Given the description of an element on the screen output the (x, y) to click on. 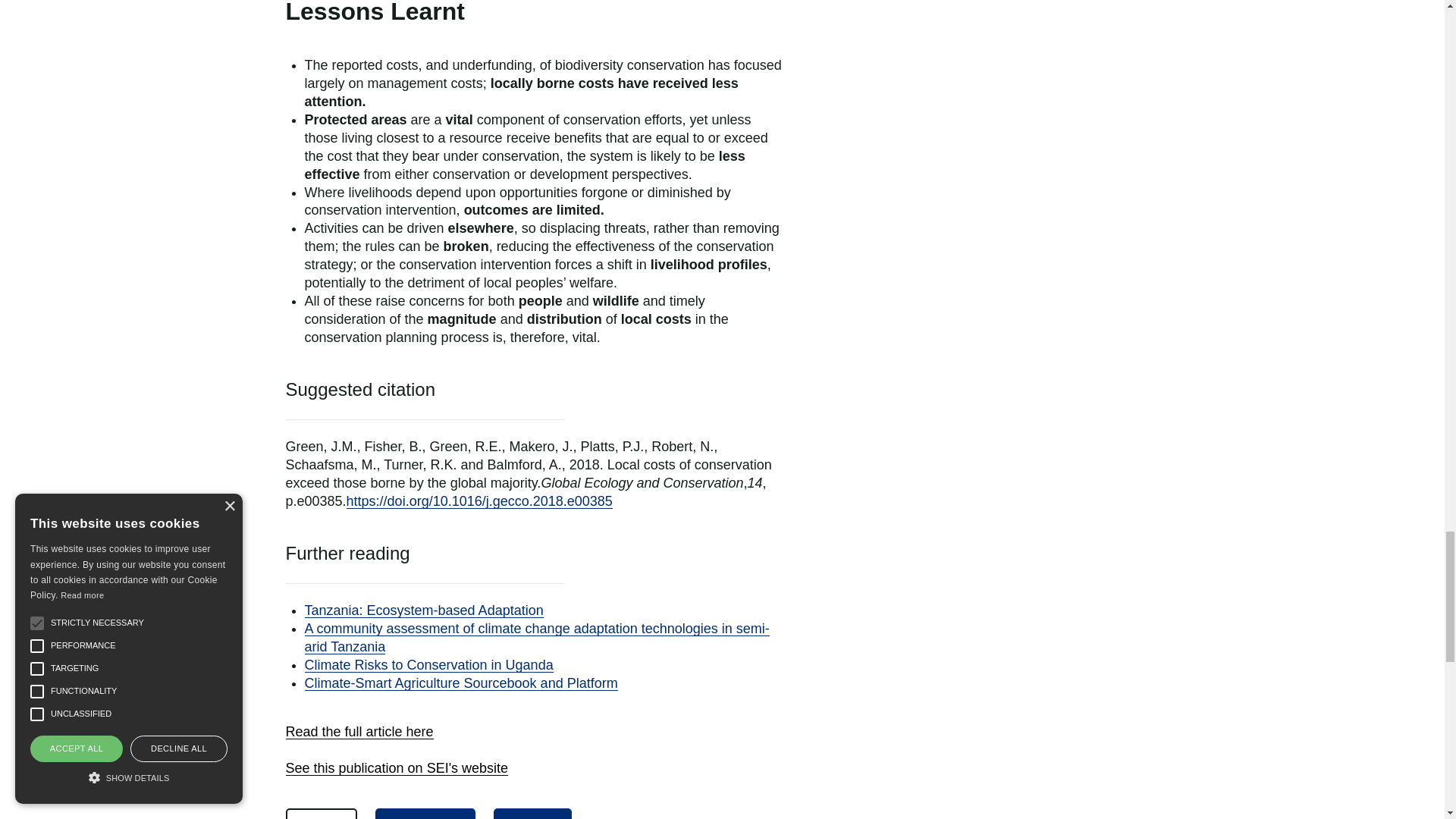
Persistent link using digital object identifier (479, 500)
